Given the description of an element on the screen output the (x, y) to click on. 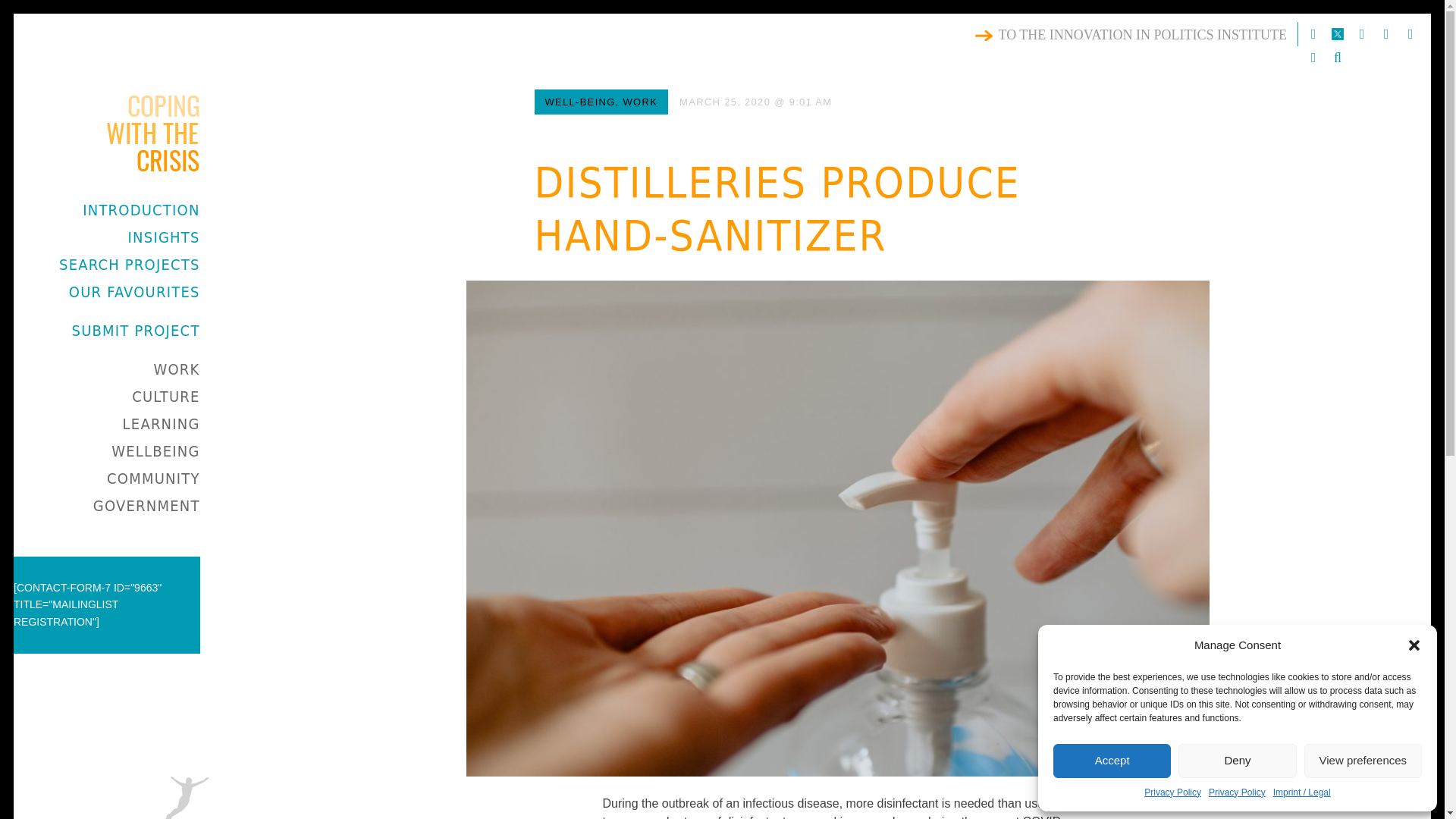
SEARCH PROJECTS (129, 264)
INSIGHTS (163, 237)
Deny (1236, 759)
WORK (176, 369)
Privacy Policy (1172, 792)
Accept (1111, 759)
THE INNOVATION IN POLITICS INSTITUTE (163, 224)
GOVERNMENT (146, 505)
Privacy Policy (1236, 792)
TO THE INNOVATION IN POLITICS INSTITUTE (1134, 34)
